Given the description of an element on the screen output the (x, y) to click on. 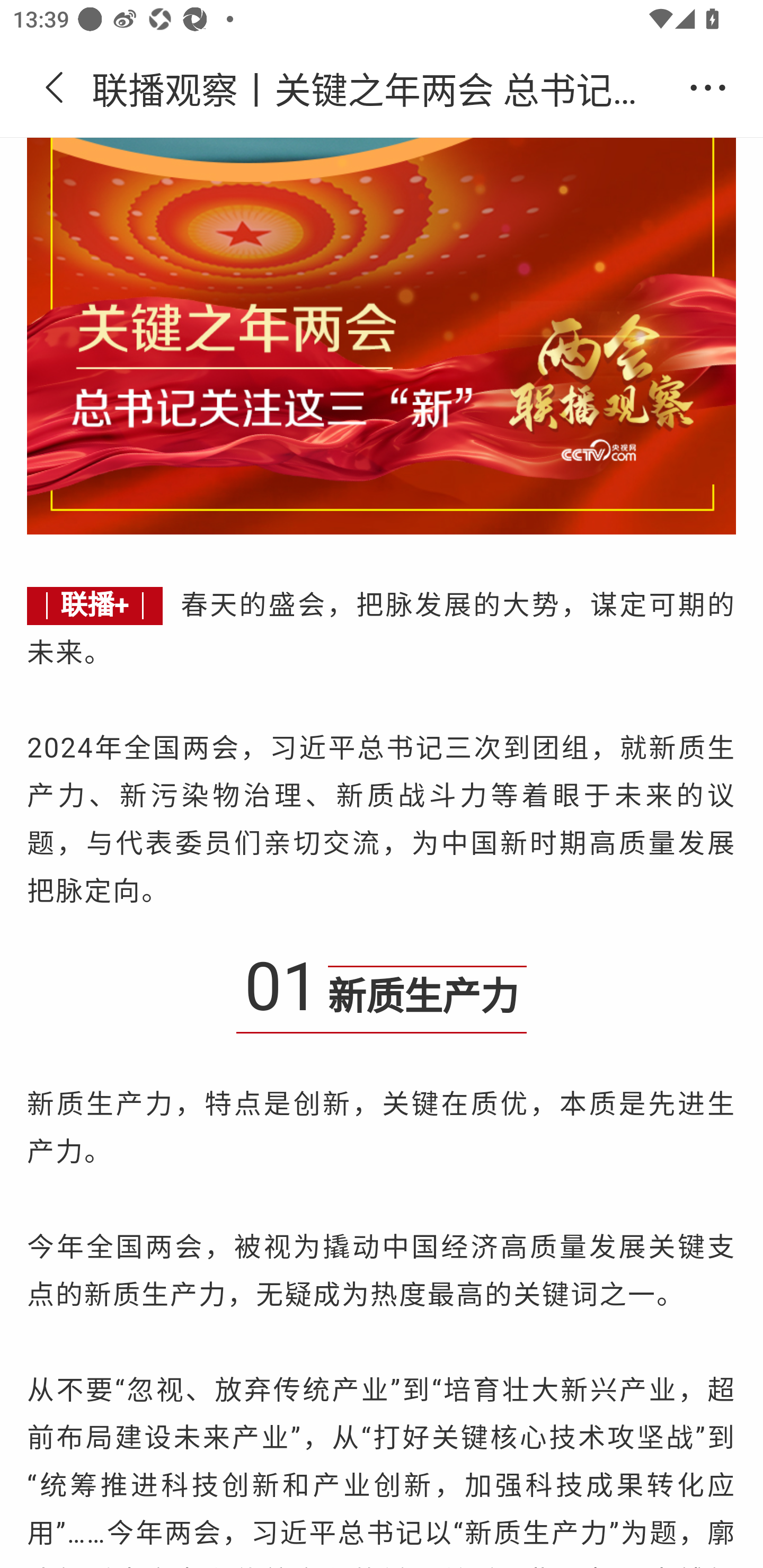
联播观察丨关键之年两会 总书记关注这三“新” (381, 87)
 返回 (54, 87)
 更多 (707, 87)
